Given the description of an element on the screen output the (x, y) to click on. 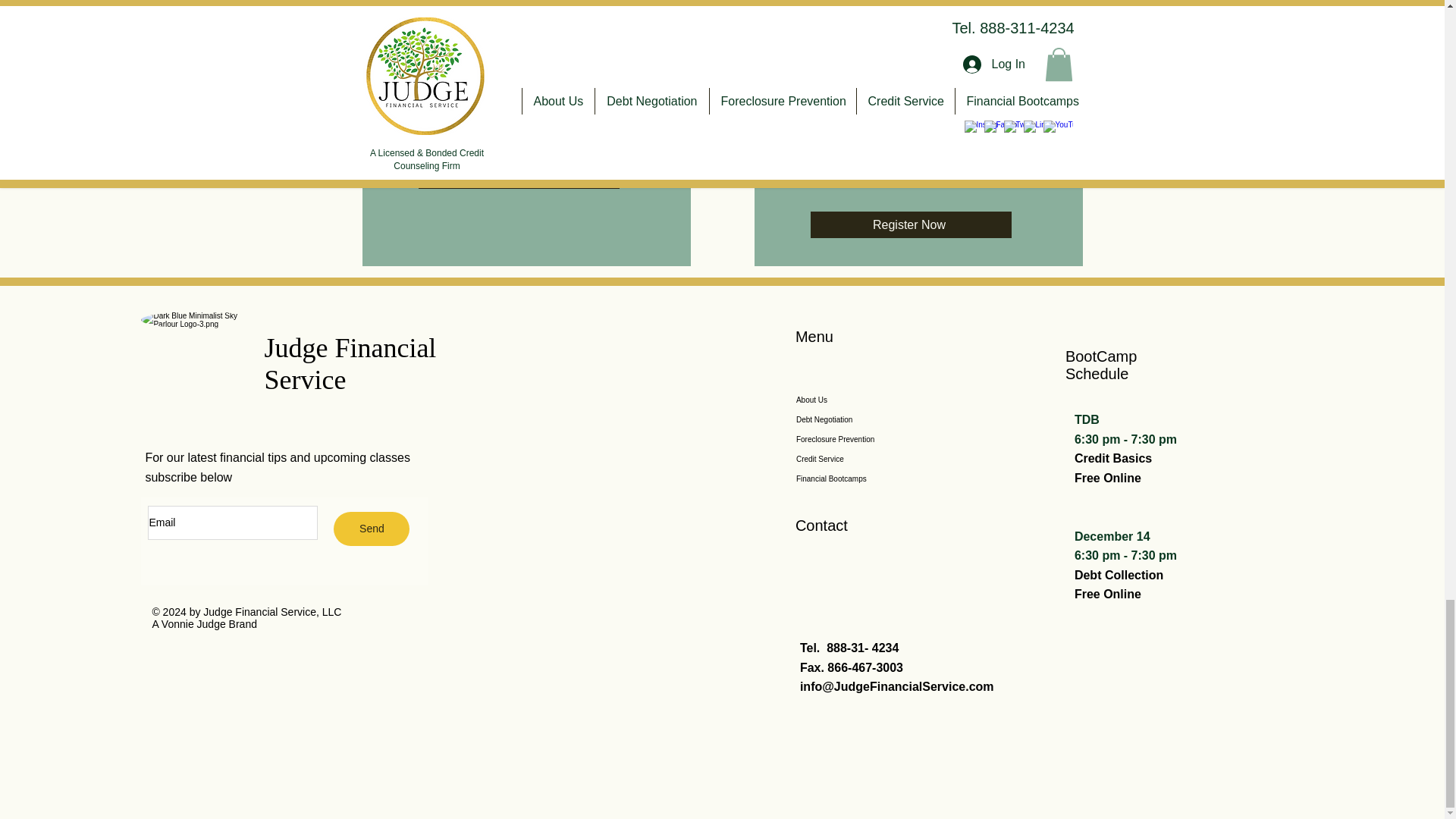
Foreclosure Prevention (871, 439)
Debt Negotiation (871, 419)
Financial Bootcamps (871, 478)
Credit Service (871, 459)
Register Now (909, 224)
About Us (871, 400)
Register Now (519, 175)
Send (371, 528)
